Given the description of an element on the screen output the (x, y) to click on. 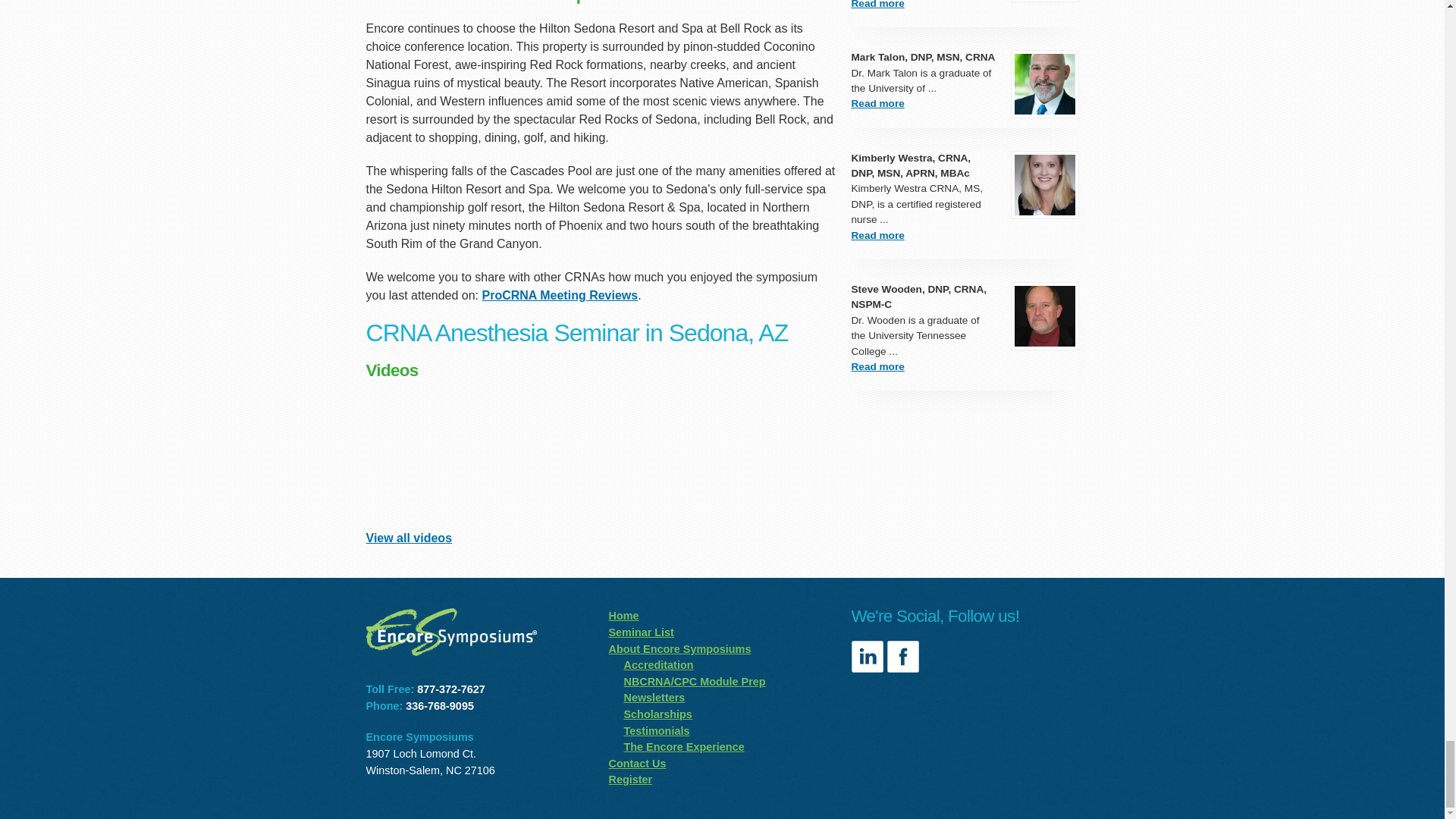
ProCRNA Meeting Reviews (560, 295)
View all videos (408, 537)
